Given the description of an element on the screen output the (x, y) to click on. 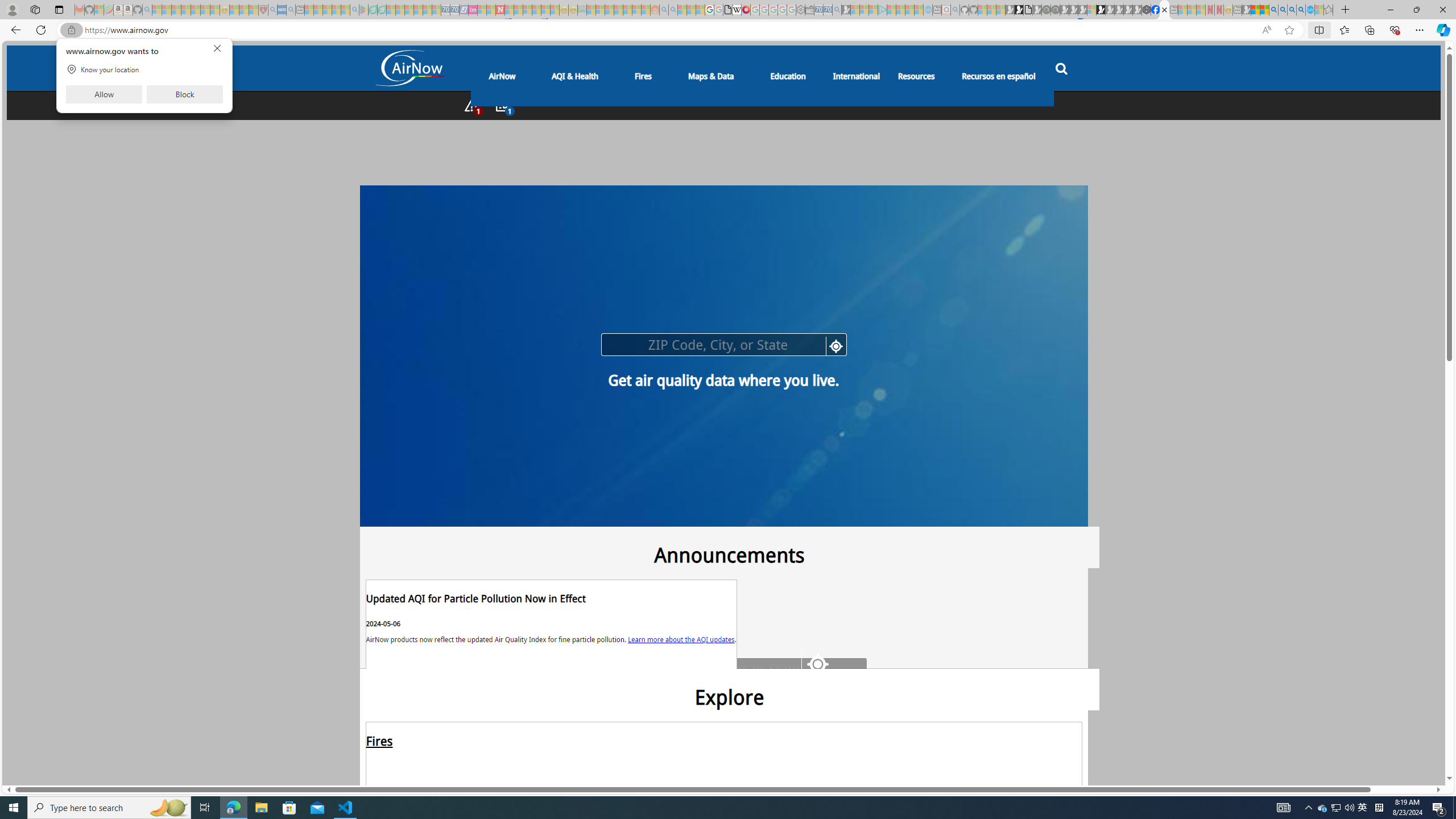
ZIP Code, City, or State (739, 668)
Future Focus Report 2024 - Sleeping (1054, 9)
